Given the description of an element on the screen output the (x, y) to click on. 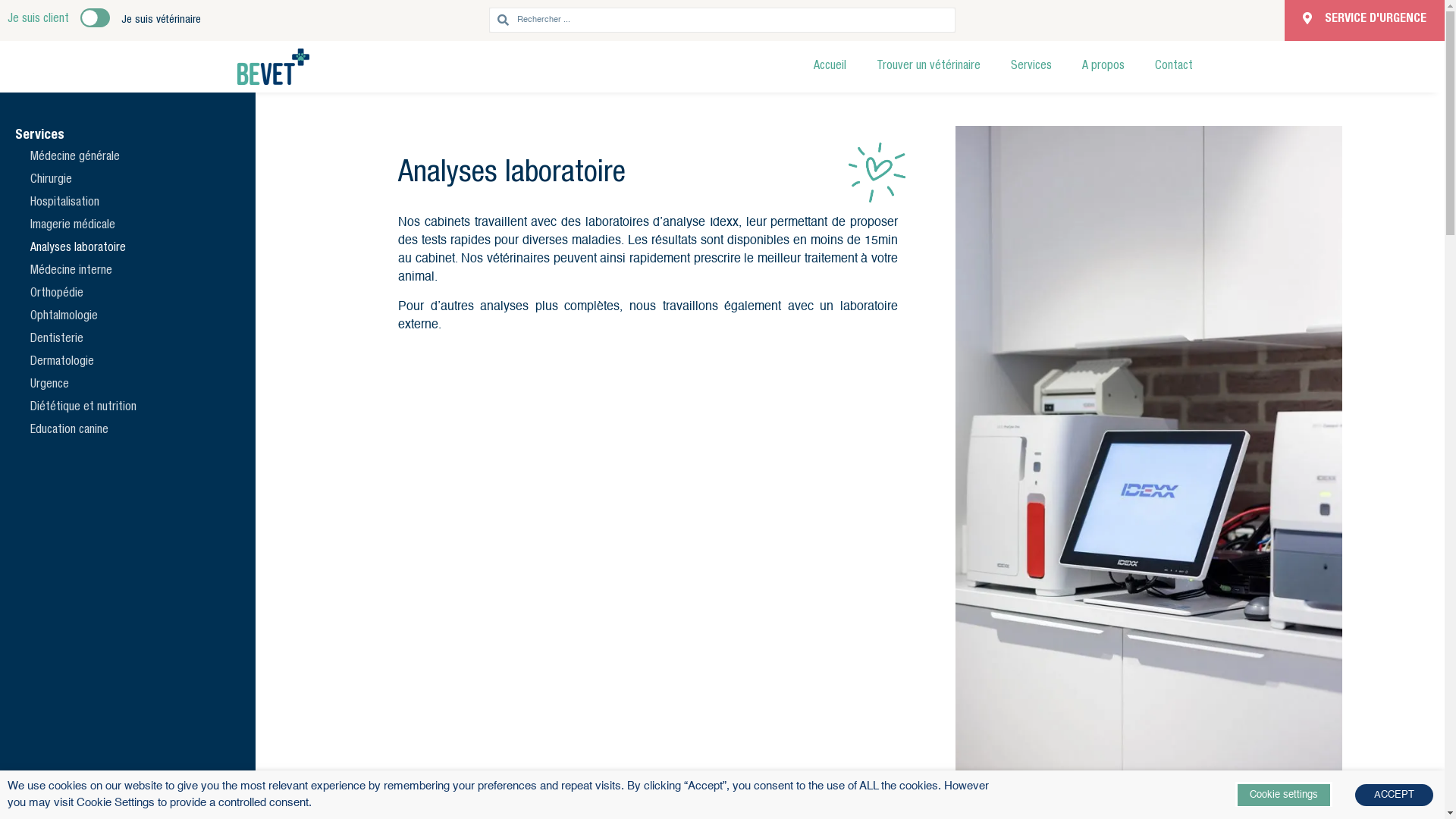
Analyses laboratoire Element type: text (127, 248)
Je suis client Element type: text (38, 19)
Education canine Element type: text (127, 430)
Services Element type: text (1030, 66)
Accueil Element type: text (828, 66)
Dentisterie Element type: text (127, 339)
Chirurgie Element type: text (127, 180)
Contact Element type: text (1173, 66)
Urgence Element type: text (127, 384)
SERVICE D'URGENCE Element type: text (1364, 20)
Ophtalmologie Element type: text (127, 316)
Dermatologie Element type: text (127, 362)
Cookie settings Element type: text (1283, 793)
A propos Element type: text (1102, 66)
Hospitalisation Element type: text (127, 202)
ACCEPT Element type: text (1394, 795)
